Given the description of an element on the screen output the (x, y) to click on. 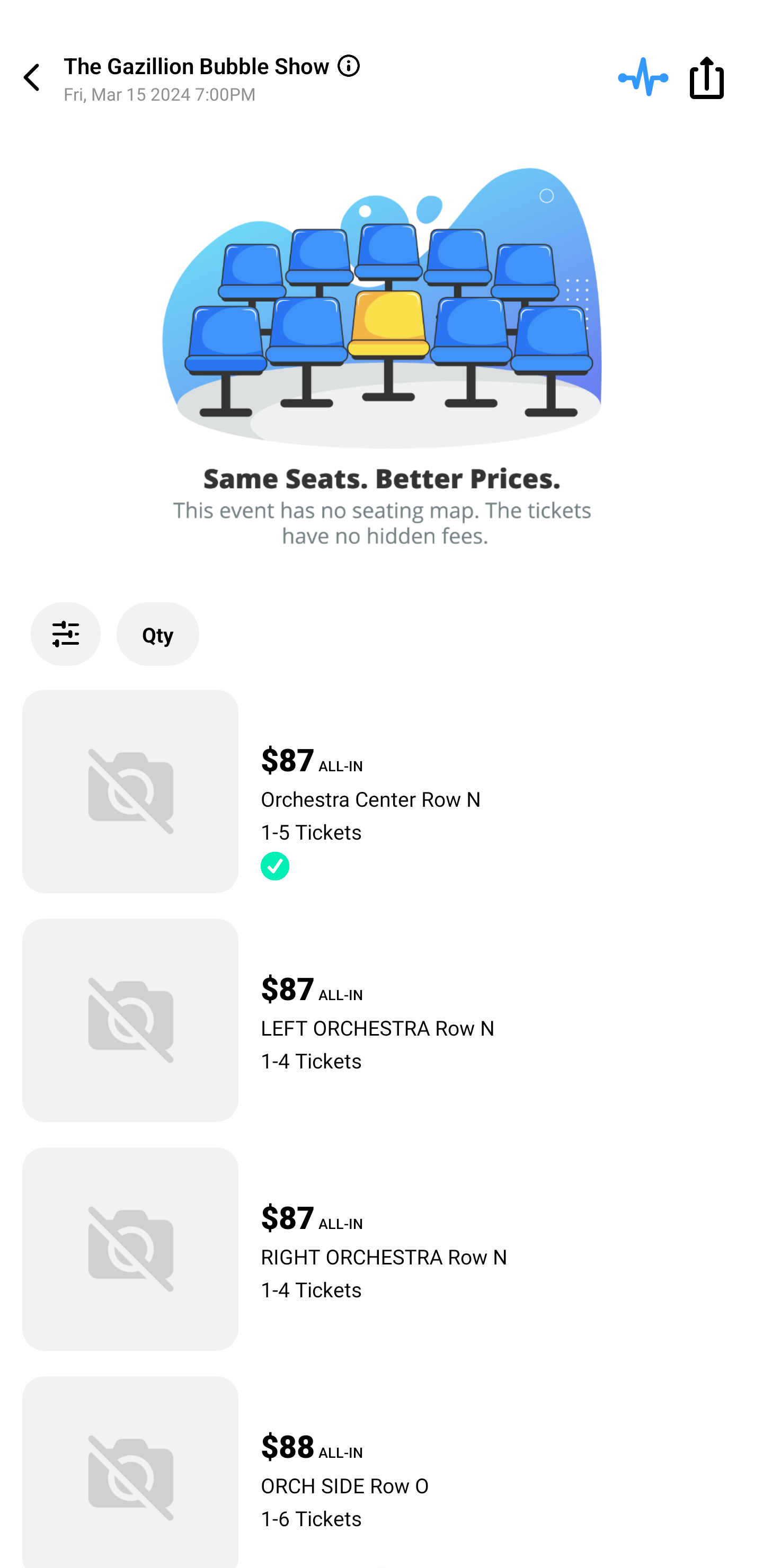
Qty (157, 634)
